Given the description of an element on the screen output the (x, y) to click on. 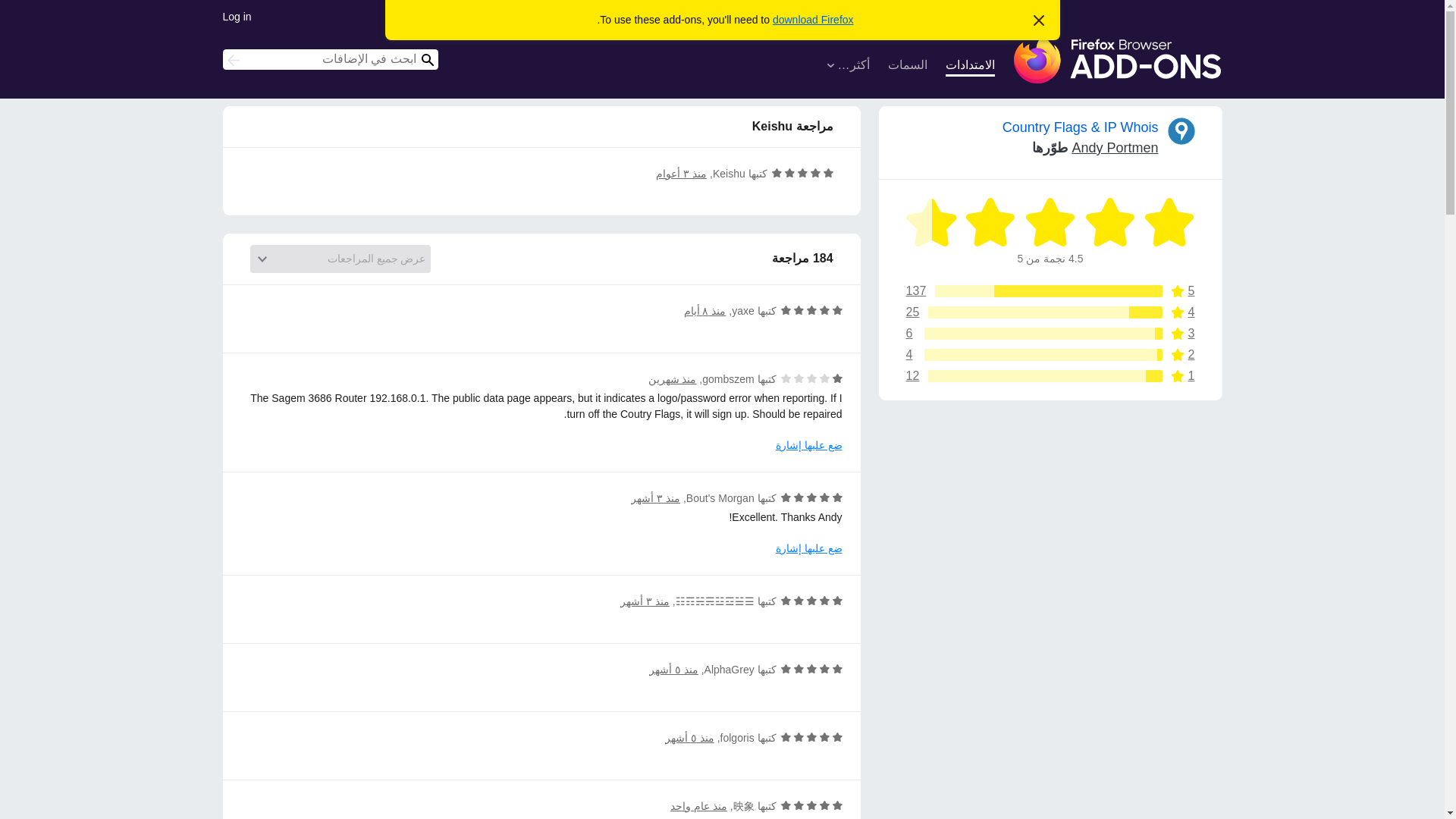
Read all 4 two-star reviews (1050, 291)
download Firefox (1050, 354)
Dismiss this notice (813, 19)
Read all 137 five-star reviews (1038, 21)
Read all 6 three-star reviews (1050, 291)
Read all 25 four-star reviews (1050, 333)
Read all 12 one-star reviews (1050, 333)
Log in (1050, 376)
Andy Portmen (1050, 354)
